Given the description of an element on the screen output the (x, y) to click on. 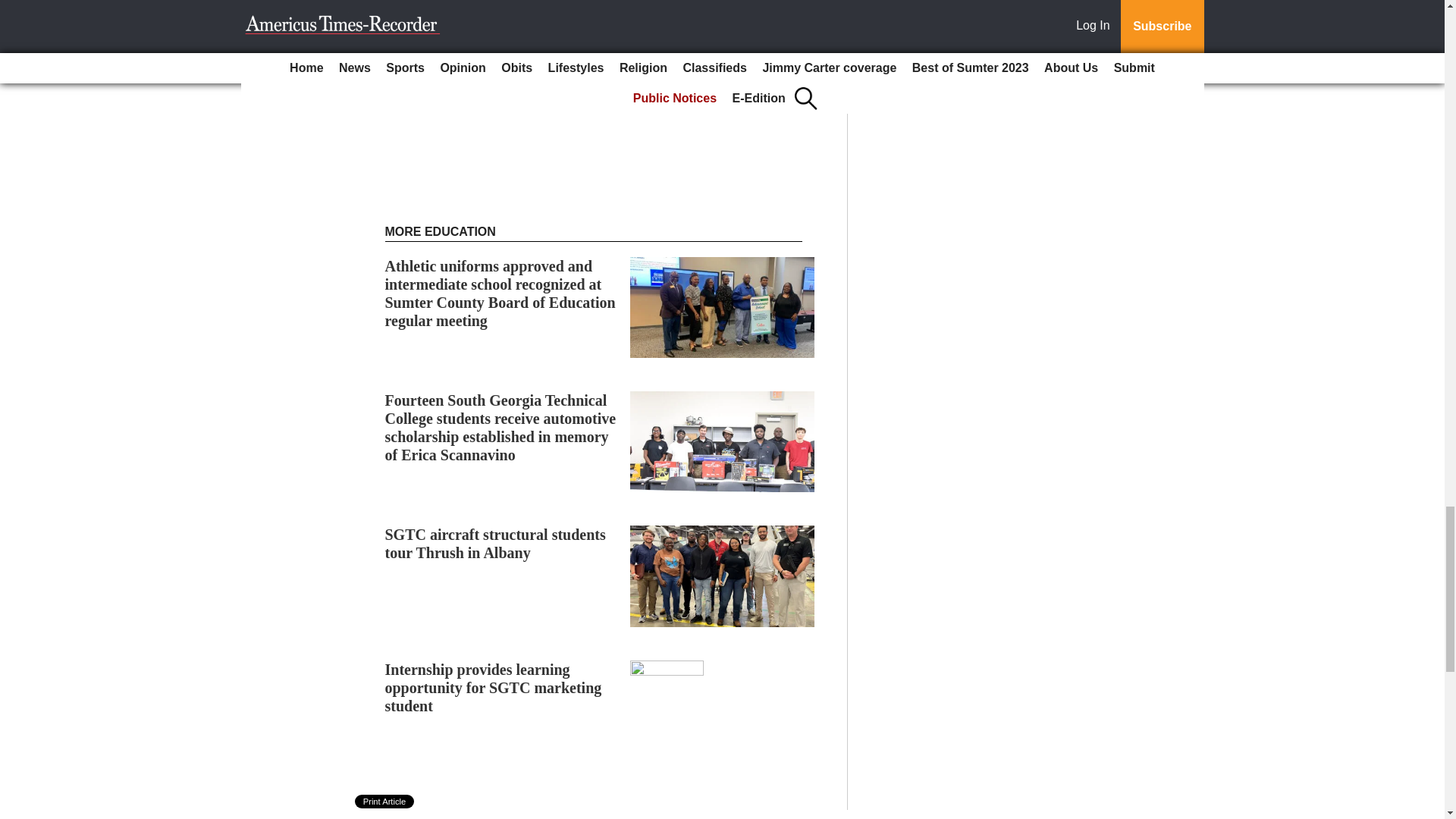
Print Article (384, 801)
SGTC aircraft structural students tour Thrush in Albany (495, 543)
SGTC aircraft structural students tour Thrush in Albany (495, 543)
